Given the description of an element on the screen output the (x, y) to click on. 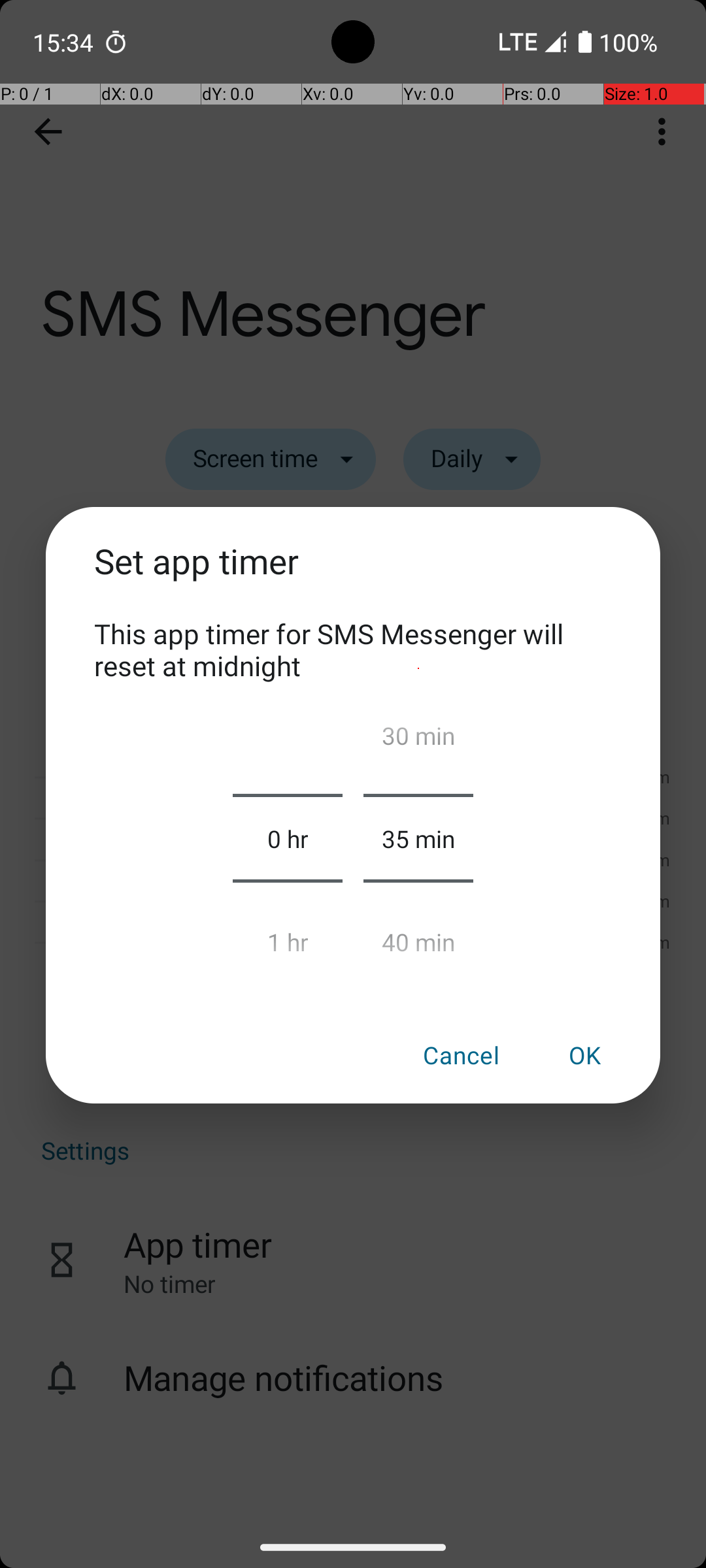
Set app timer Element type: android.widget.TextView (352, 575)
This app timer for SMS Messenger will reset at midnight Element type: android.widget.TextView (352, 649)
0 hr Element type: android.widget.EditText (287, 838)
1 hr Element type: android.widget.Button (287, 936)
30 min Element type: android.widget.Button (418, 740)
35 min Element type: android.widget.EditText (418, 838)
40 min Element type: android.widget.Button (418, 936)
